Given the description of an element on the screen output the (x, y) to click on. 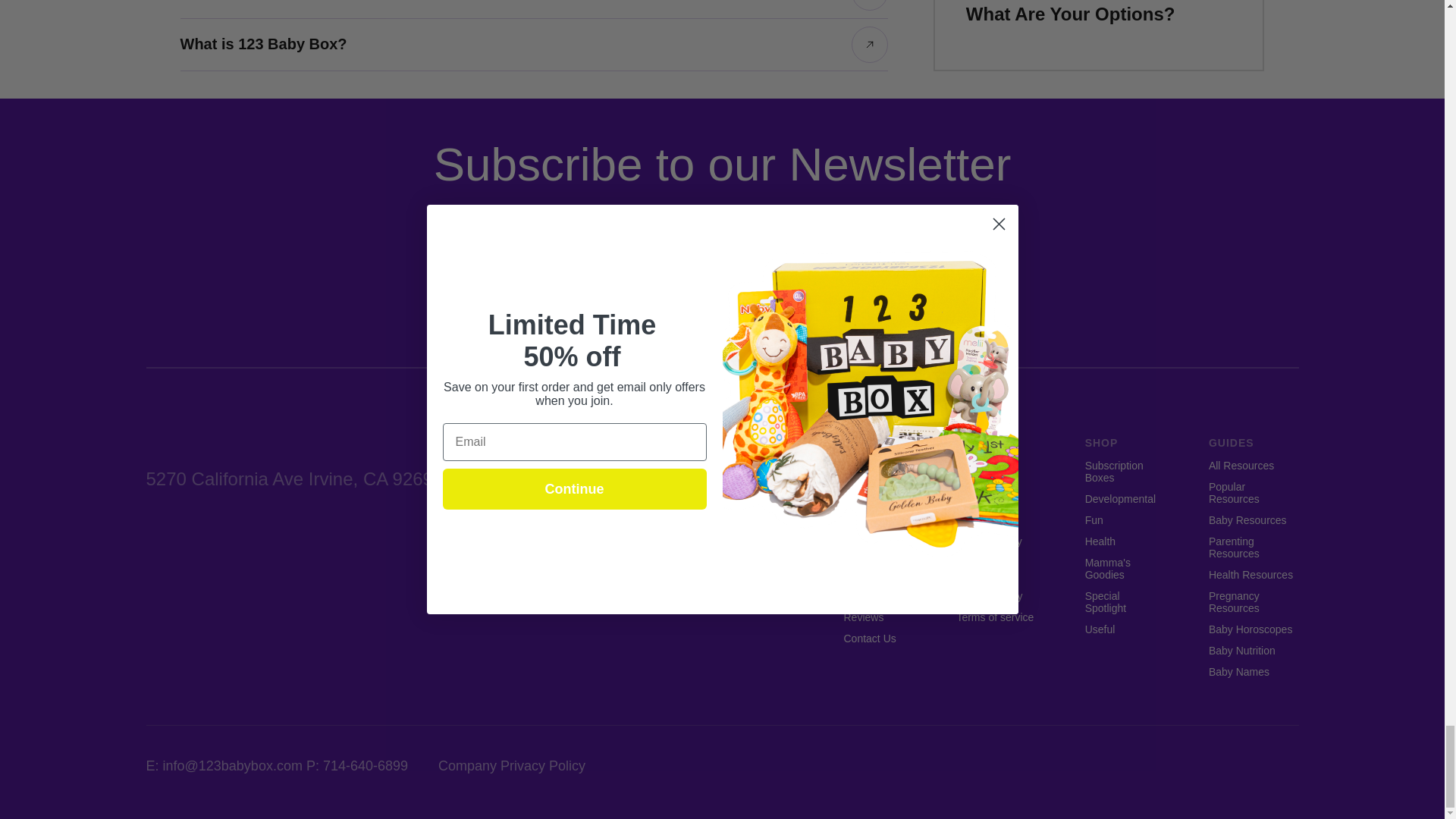
About Us (864, 465)
Our Plans (866, 486)
Subscribe Now (877, 514)
Our Partners (873, 574)
SUBSCRIBE (848, 275)
Affiliate Program (877, 547)
